Given the description of an element on the screen output the (x, y) to click on. 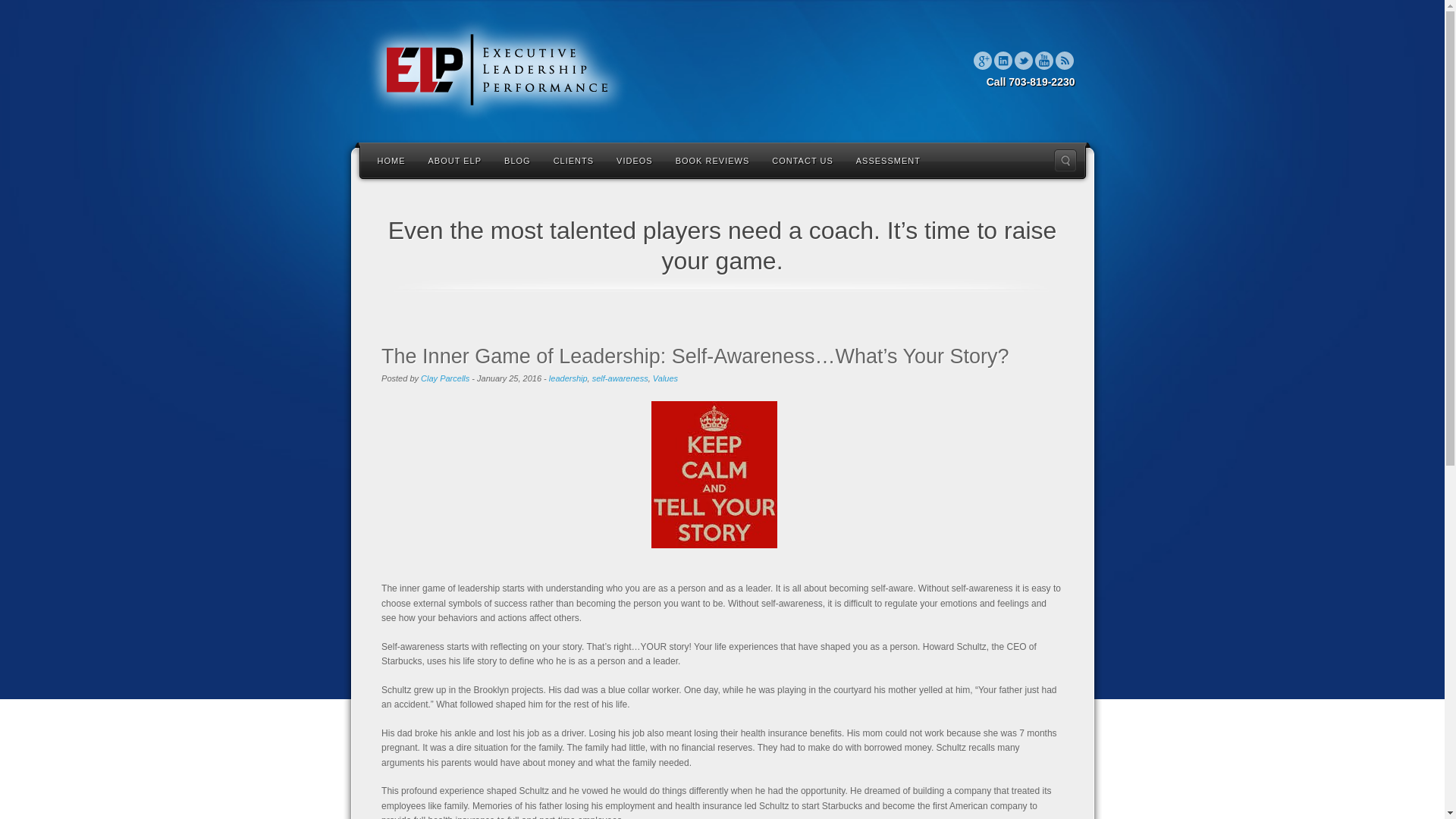
Search the site... (1065, 160)
Rss (1064, 60)
Search the site... (1065, 160)
CLIENTS (573, 159)
VIDEOS (634, 159)
ASSESSMENT (887, 159)
Executive Leadership Performance (496, 69)
Twitter (1023, 60)
Clay Parcells (444, 378)
Rss (1064, 60)
Values (665, 378)
Linkedin (1001, 60)
BOOK REVIEWS (712, 159)
View all posts by Clay Parcells (444, 378)
HOME (390, 159)
